Given the description of an element on the screen output the (x, y) to click on. 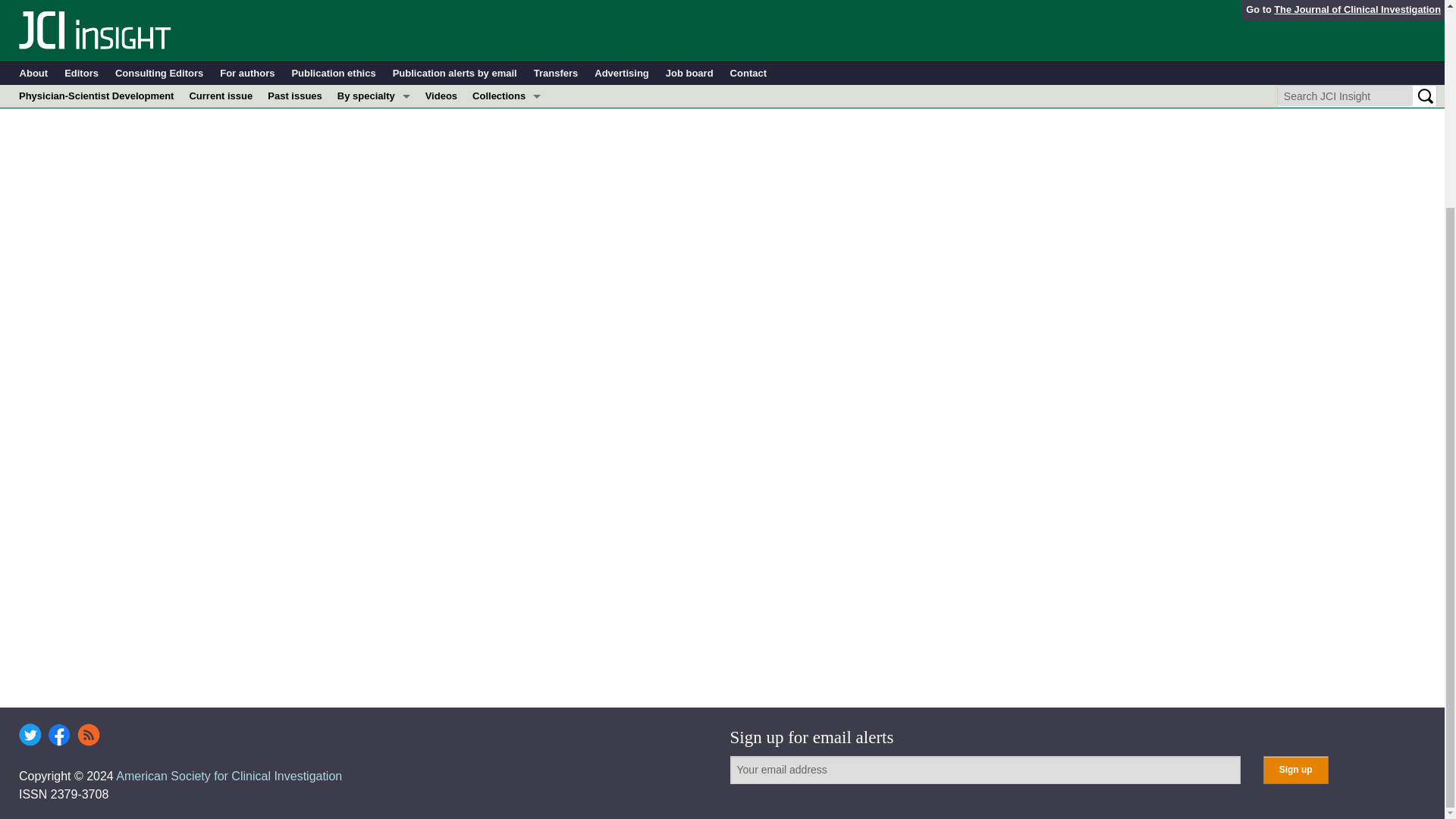
Facebook (58, 734)
Twitter (30, 734)
All ... (373, 11)
Top read articles (506, 11)
Sign up (1295, 769)
download (77, 23)
RSS (88, 734)
